Given the description of an element on the screen output the (x, y) to click on. 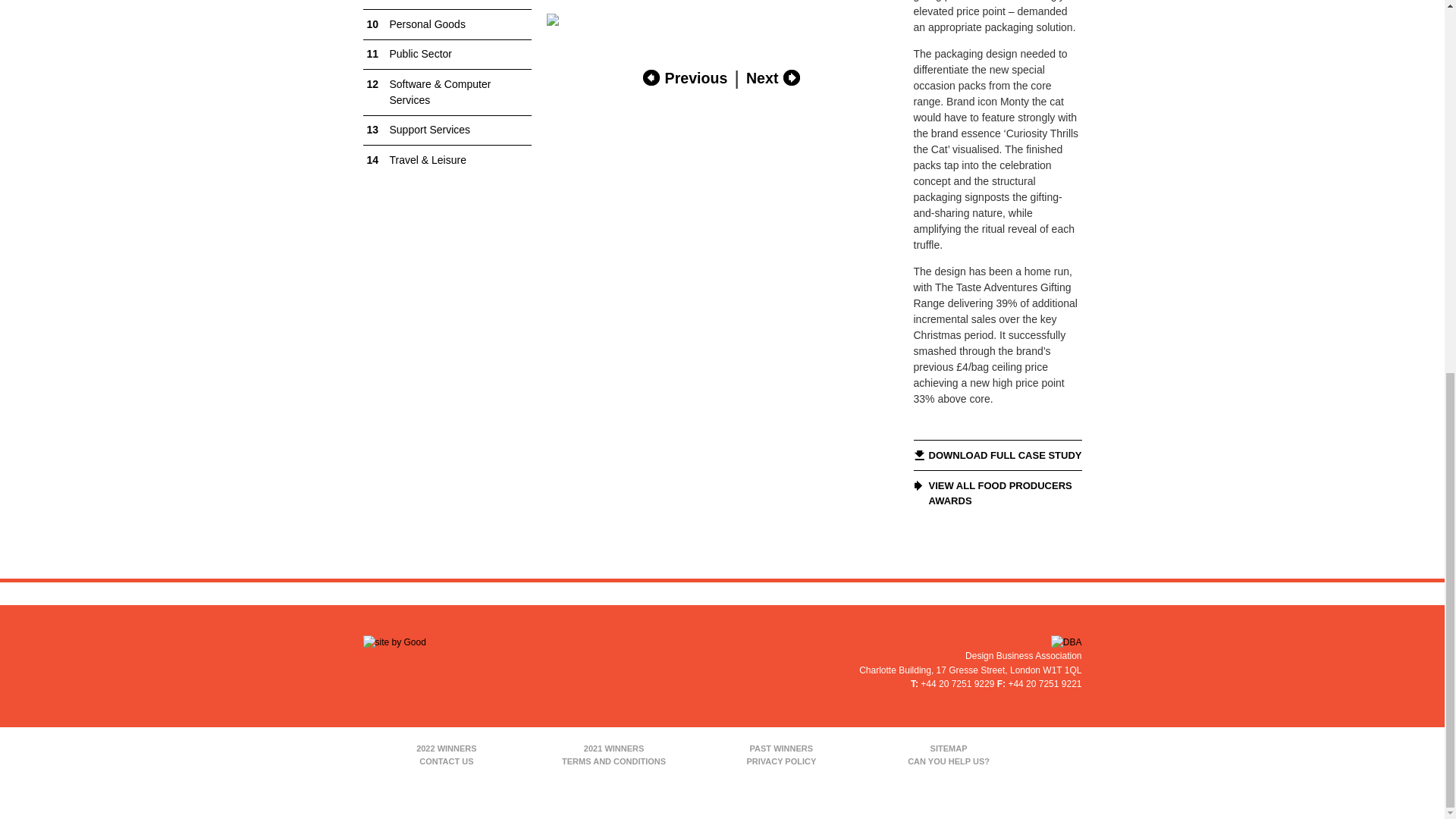
2021 WINNERS (613, 748)
2022 WINNERS (445, 748)
DOWNLOAD FULL CASE STUDY (996, 455)
Next (772, 77)
PRIVACY POLICY (780, 761)
Personal Goods (446, 24)
TERMS AND CONDITIONS (613, 761)
SITEMAP (948, 748)
VIEW ALL FOOD PRODUCERS AWARDS (996, 492)
Support Services (446, 129)
